Given the description of an element on the screen output the (x, y) to click on. 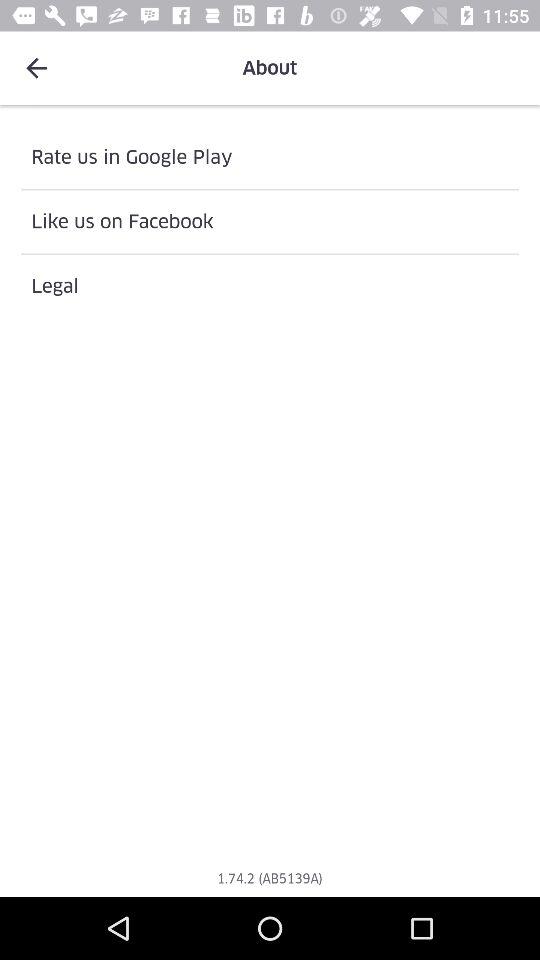
scroll until the like us on (270, 221)
